Given the description of an element on the screen output the (x, y) to click on. 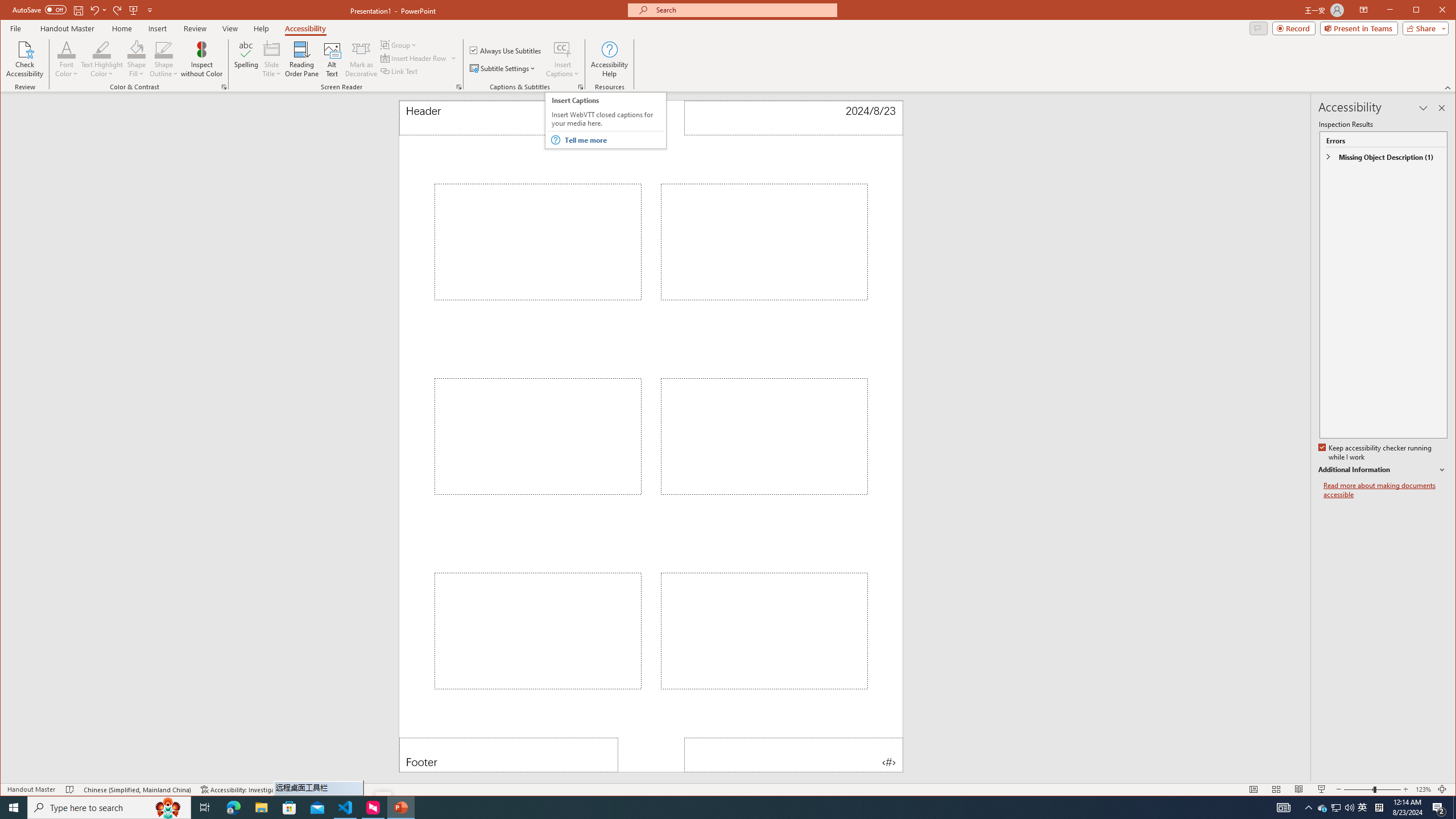
Handout Master (67, 28)
